Given the description of an element on the screen output the (x, y) to click on. 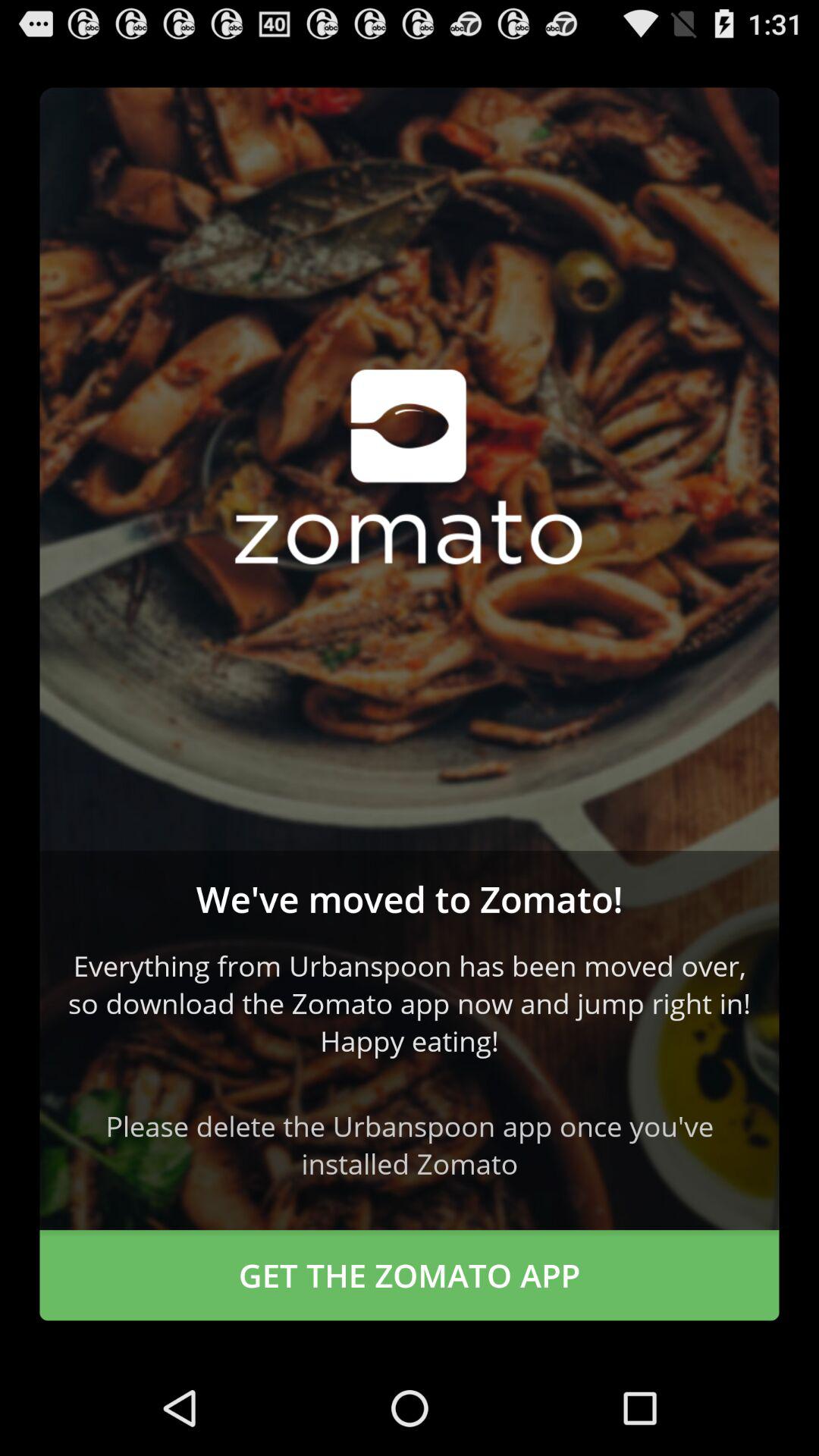
direct to zomato in app store (409, 468)
